Given the description of an element on the screen output the (x, y) to click on. 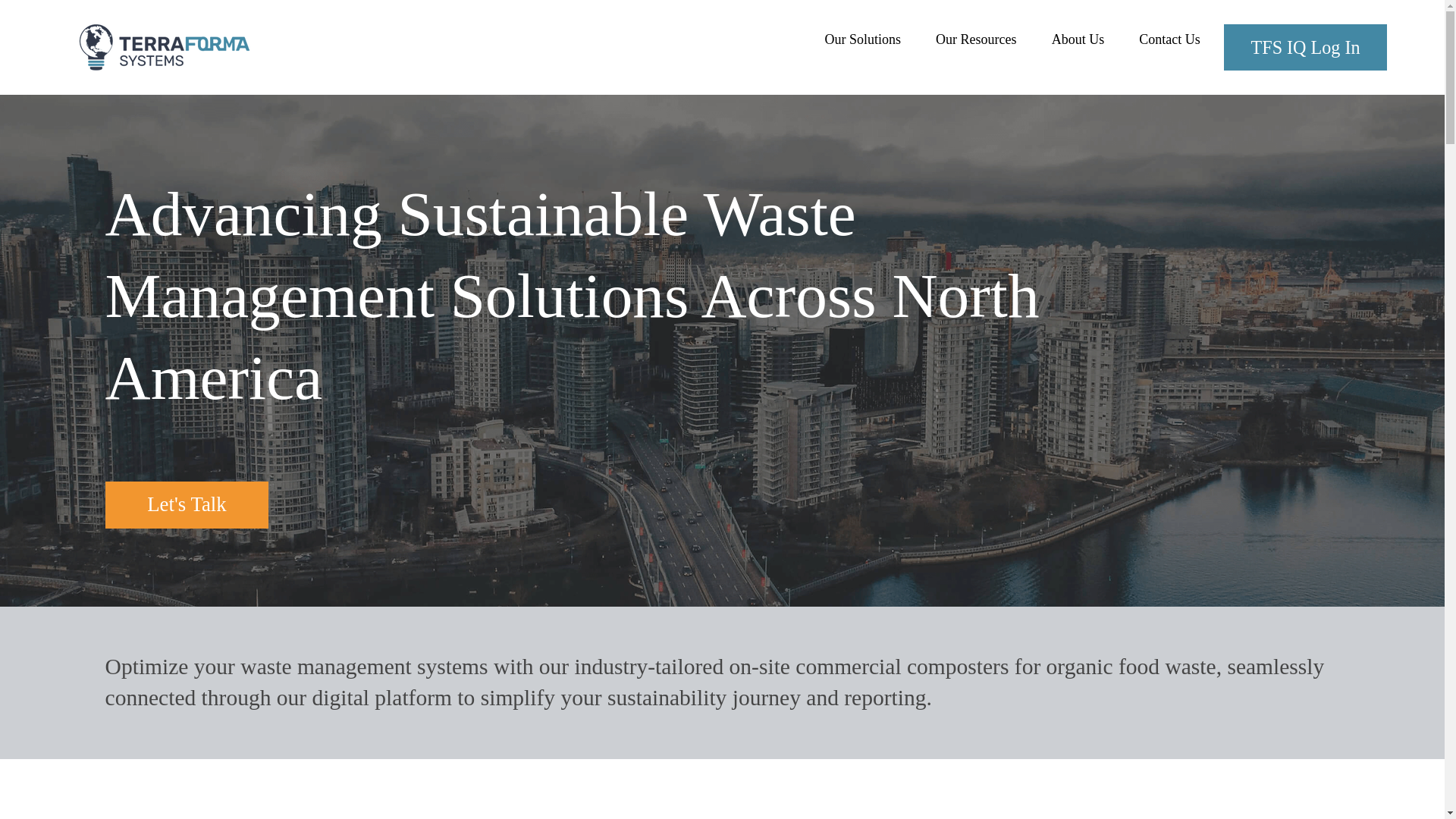
Our Resources (975, 39)
TFS IQ Log In (1305, 47)
digital platform (382, 697)
waste management (325, 666)
About Us (1078, 39)
Waste Management (480, 254)
Contact Us (1169, 39)
Our Solutions (862, 39)
Let's Talk (186, 504)
commercial composters (901, 666)
